Given the description of an element on the screen output the (x, y) to click on. 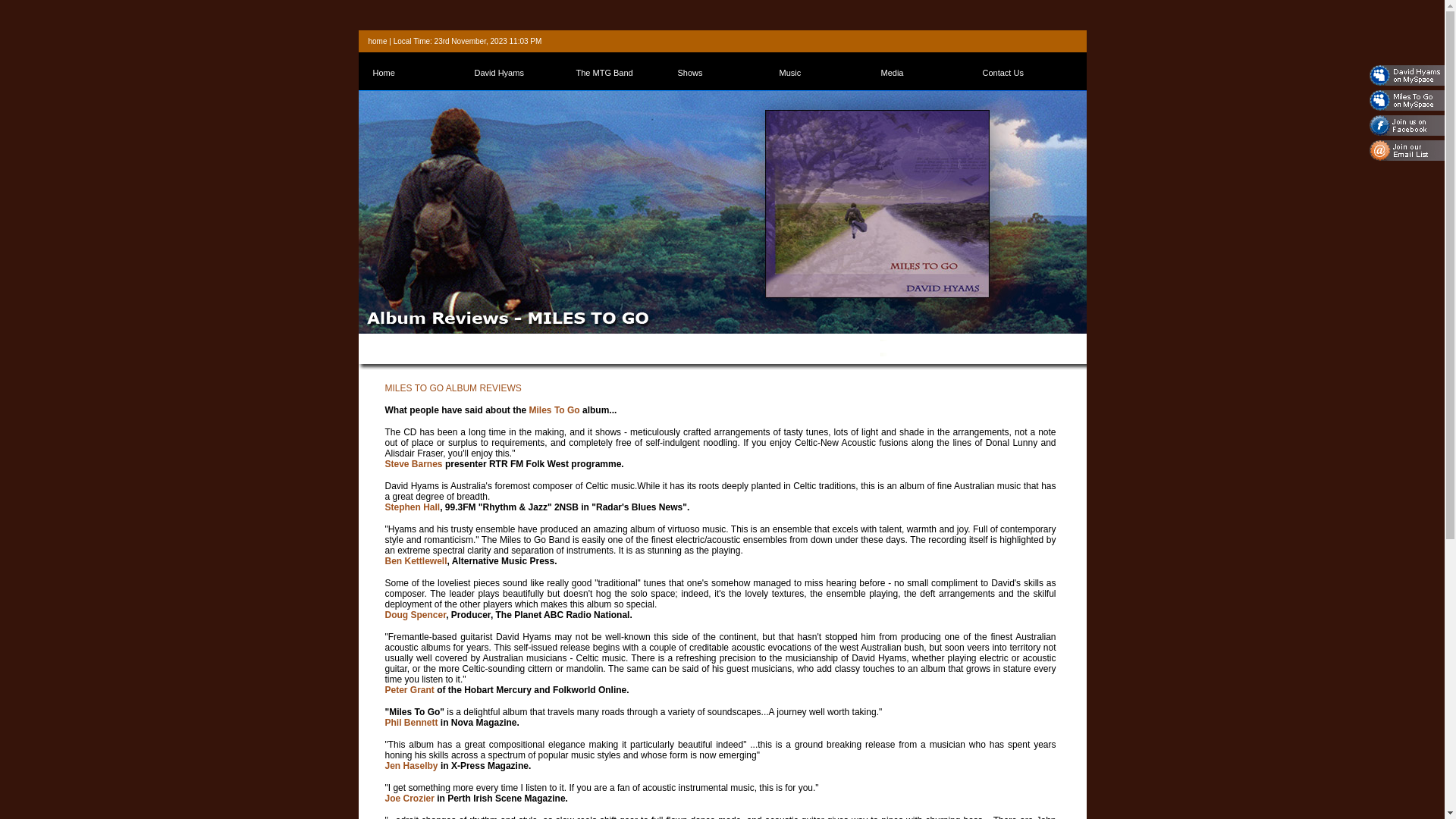
The MTG Band Element type: text (621, 72)
Contact Us Element type: text (1027, 72)
home Element type: text (377, 41)
Home Element type: text (418, 72)
Music Element type: text (824, 72)
David Hyams Element type: text (519, 72)
Media Element type: text (926, 72)
Shows Element type: text (722, 72)
